Given the description of an element on the screen output the (x, y) to click on. 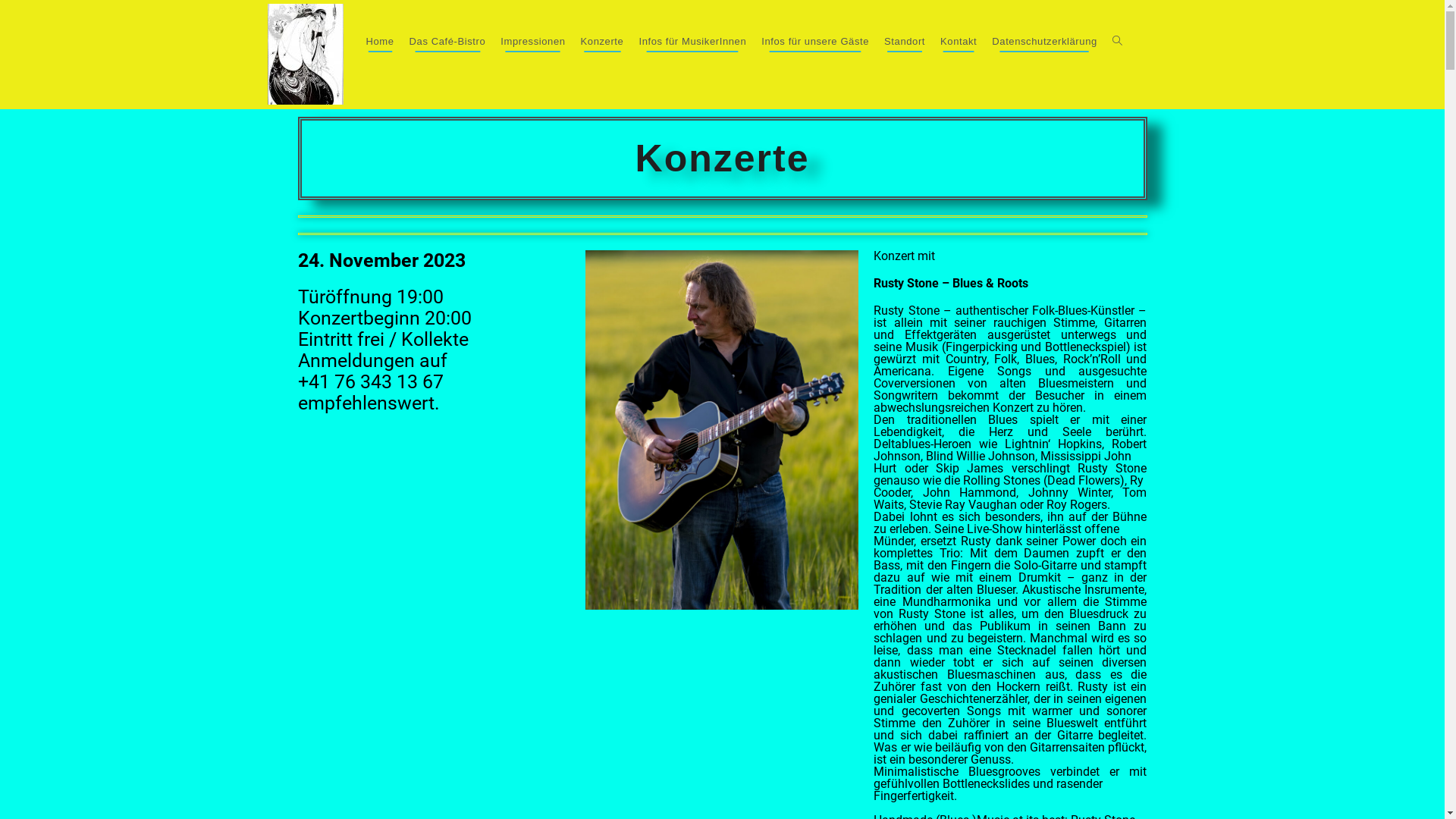
Impressionen Element type: text (532, 41)
Konzerte Element type: text (602, 41)
Standort Element type: text (904, 41)
Home Element type: text (379, 41)
Kontakt Element type: text (958, 41)
